Given the description of an element on the screen output the (x, y) to click on. 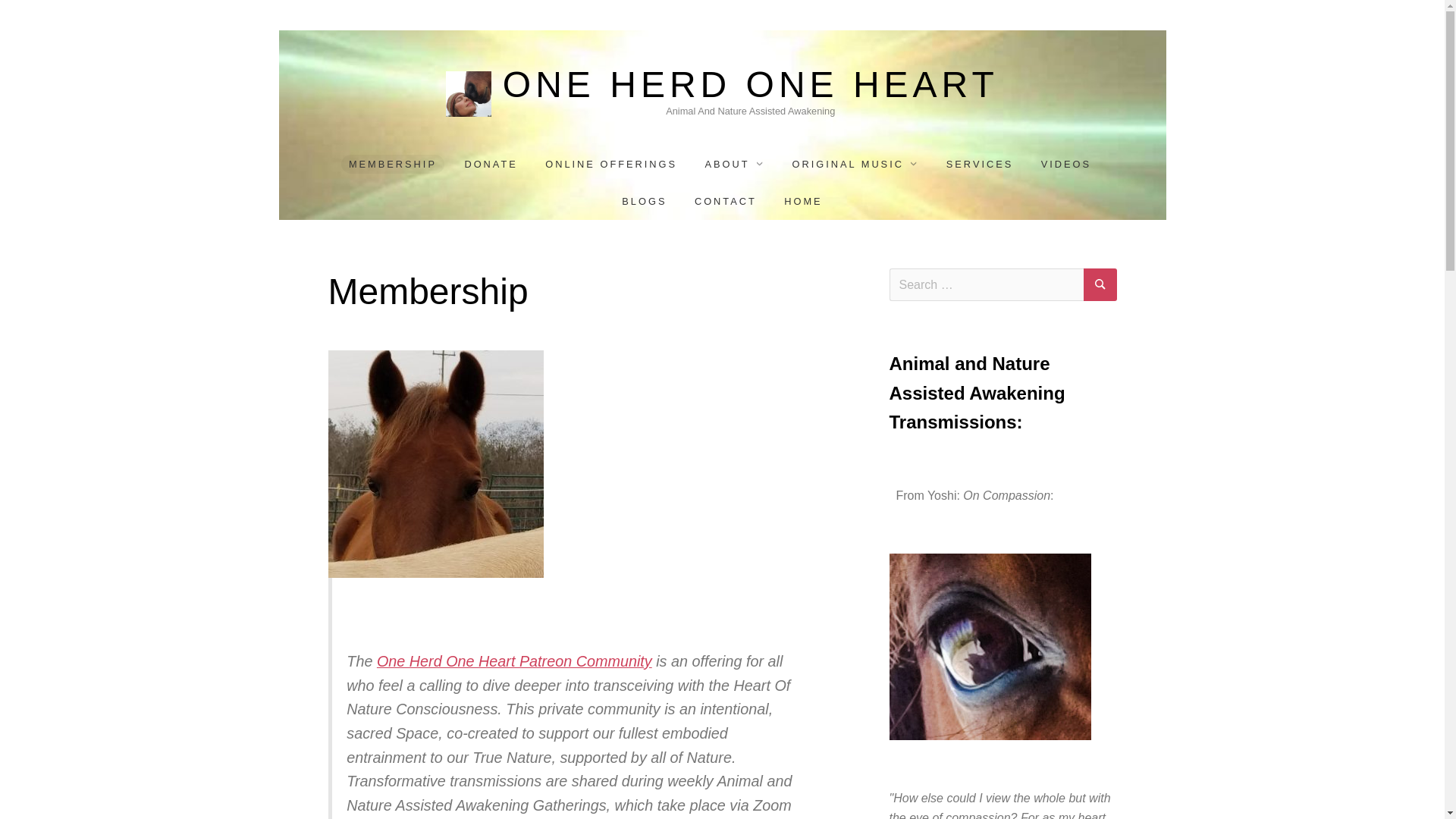
Search (1099, 284)
ABOUT (734, 163)
HOME (802, 200)
One Herd One Heart Patreon Community (514, 660)
ONE HERD ONE HEART (750, 84)
CONTACT (725, 200)
ONLINE OFFERINGS (610, 163)
SERVICES (979, 163)
MEMBERSHIP (392, 163)
DONATE (490, 163)
ORIGINAL MUSIC (855, 163)
VIDEOS (1066, 163)
BLOGS (644, 200)
